Given the description of an element on the screen output the (x, y) to click on. 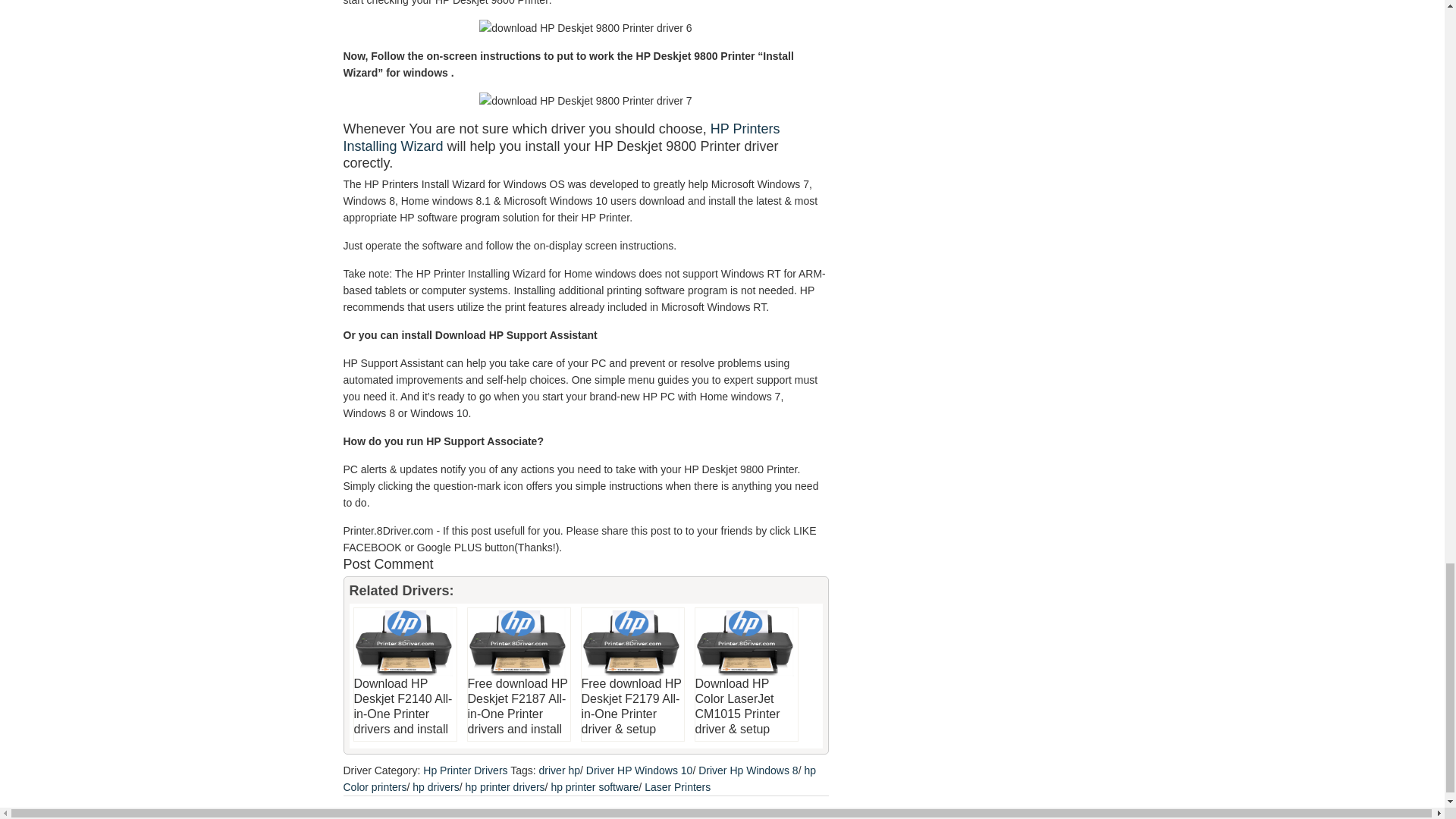
hp printer software (594, 786)
HP Printers Installing Wizard (560, 137)
Hp Printer Drivers (464, 769)
hp Color printers (578, 777)
Laser Printers (677, 786)
Driver HP Windows 10 (639, 769)
driver hp (558, 769)
hp drivers (435, 786)
hp printer drivers (504, 786)
Download HP Deskjet 9800 Printer driver 6 (585, 27)
Download HP Deskjet 9800 Printer driver 7 (585, 100)
